Given the description of an element on the screen output the (x, y) to click on. 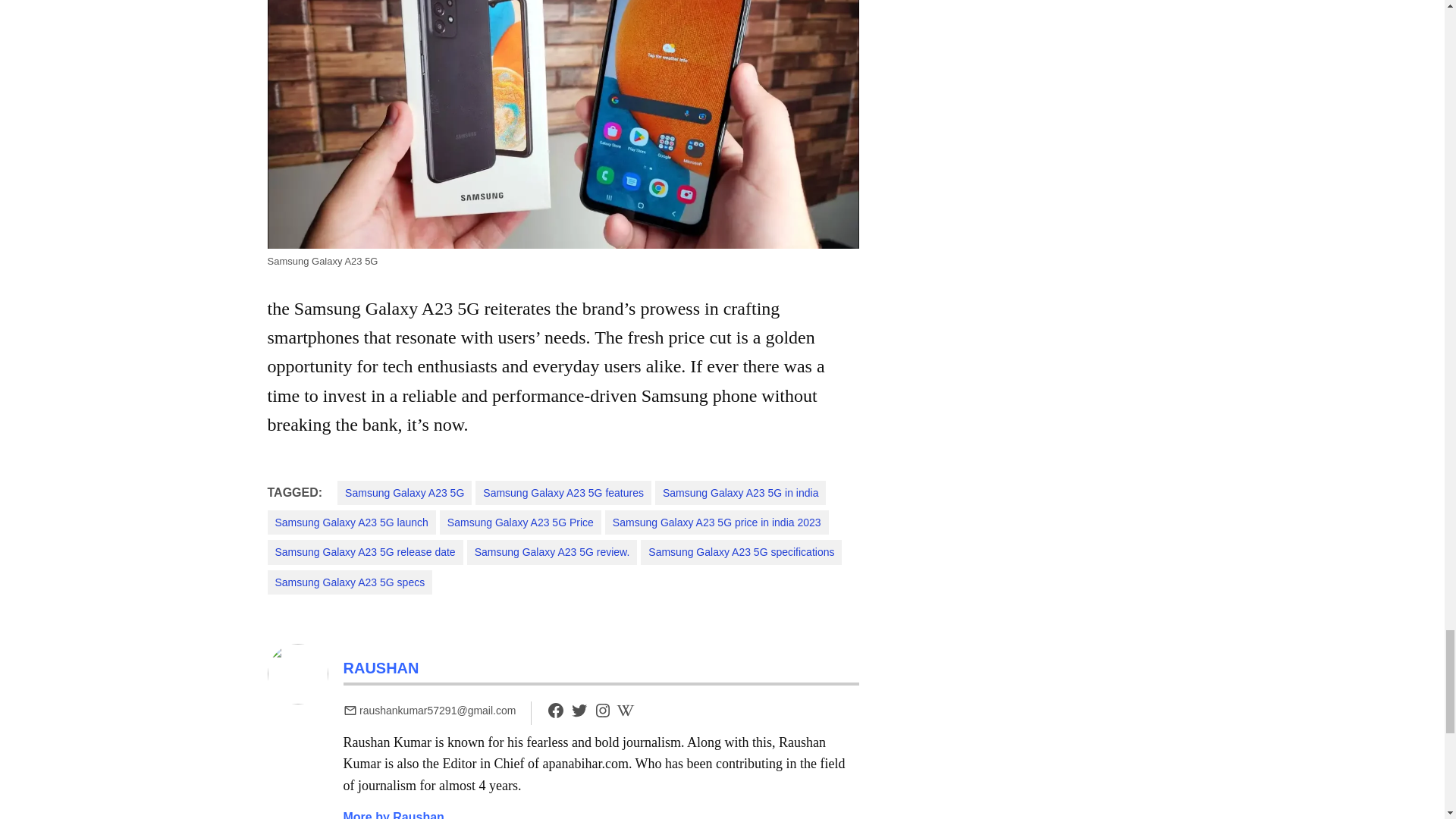
Samsung Galaxy A23 5G specifications (740, 551)
facebook (555, 715)
Samsung Galaxy A23 5G specs (349, 582)
Samsung Galaxy A23 5G (404, 492)
wikipedia (624, 710)
Samsung Galaxy A23 5G release date (364, 551)
facebook (555, 710)
Samsung Galaxy A23 5G review. (552, 551)
Samsung Galaxy A23 5G features (563, 492)
instagram (602, 710)
Samsung Galaxy A23 5G in india (740, 492)
Samsung Galaxy A23 5G Price (520, 522)
Samsung Galaxy A23 5G price in india 2023 (716, 522)
RAUSHAN (380, 668)
